Given the description of an element on the screen output the (x, y) to click on. 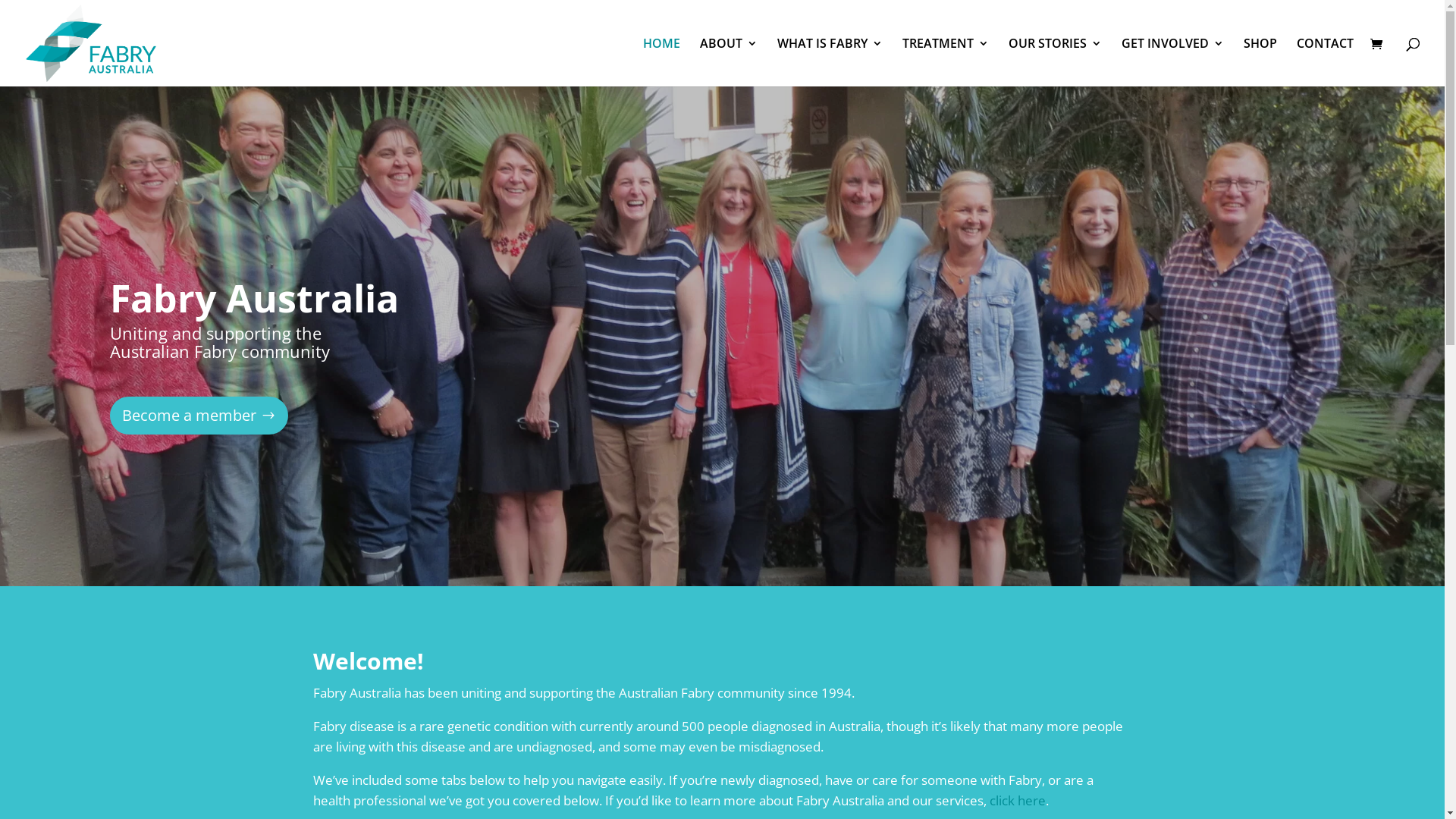
WHAT IS FABRY Element type: text (829, 61)
Become a member Element type: text (198, 415)
HOME Element type: text (661, 61)
ABOUT Element type: text (728, 61)
CONTACT Element type: text (1324, 61)
TREATMENT Element type: text (945, 61)
OUR STORIES Element type: text (1054, 61)
click here Element type: text (1016, 800)
SHOP Element type: text (1260, 61)
GET INVOLVED Element type: text (1172, 61)
